Given the description of an element on the screen output the (x, y) to click on. 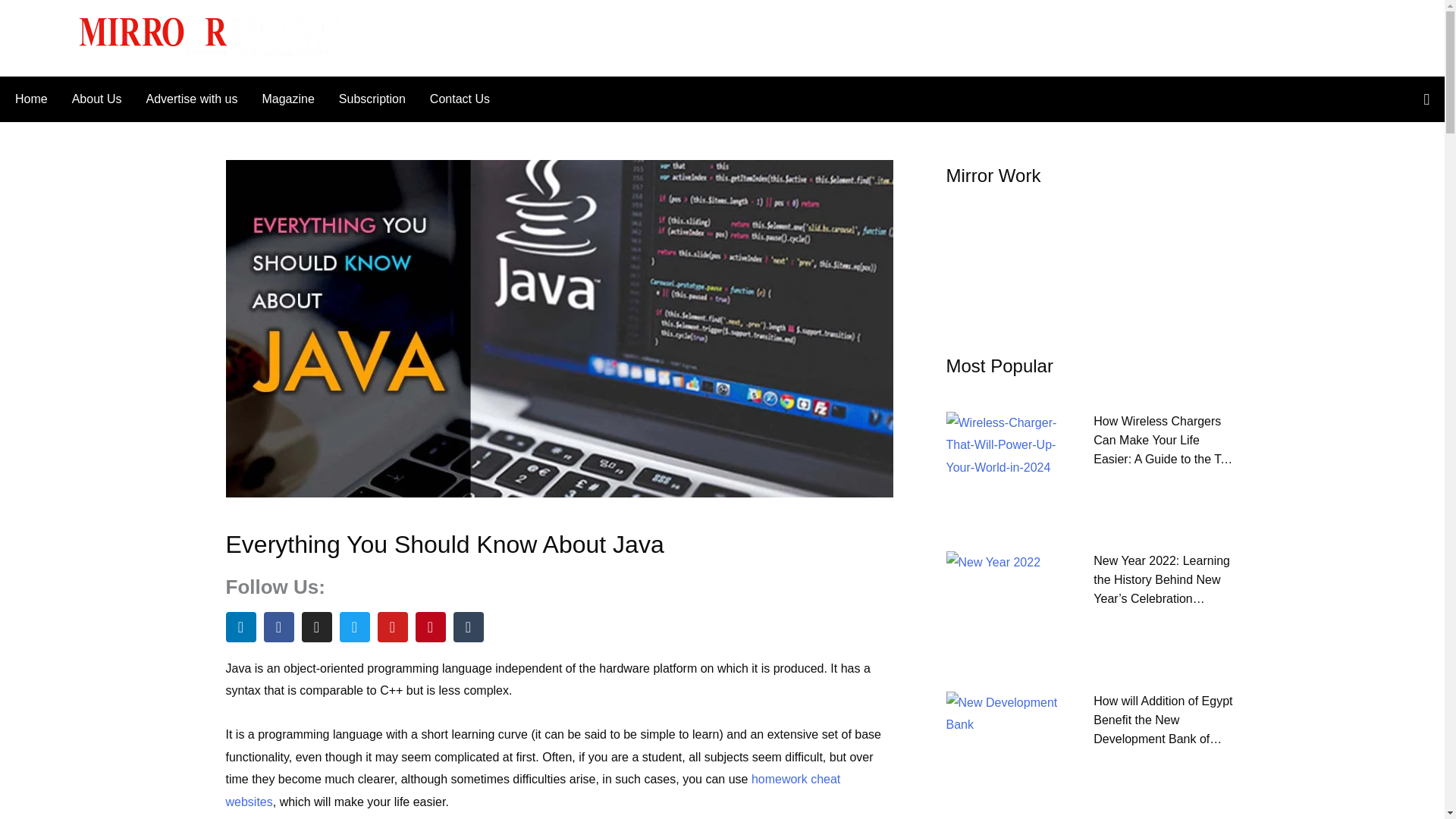
Facebook (278, 626)
Tumblr (467, 626)
homework cheat websites (533, 790)
Youtube (392, 626)
About Us (96, 99)
Magazine (287, 99)
Home (36, 99)
Subscription (371, 99)
Instagram (316, 626)
Pinterest (429, 626)
Main Menu (43, 37)
Twitter (354, 626)
Linkedin (240, 626)
Most Popular (999, 365)
